Given the description of an element on the screen output the (x, y) to click on. 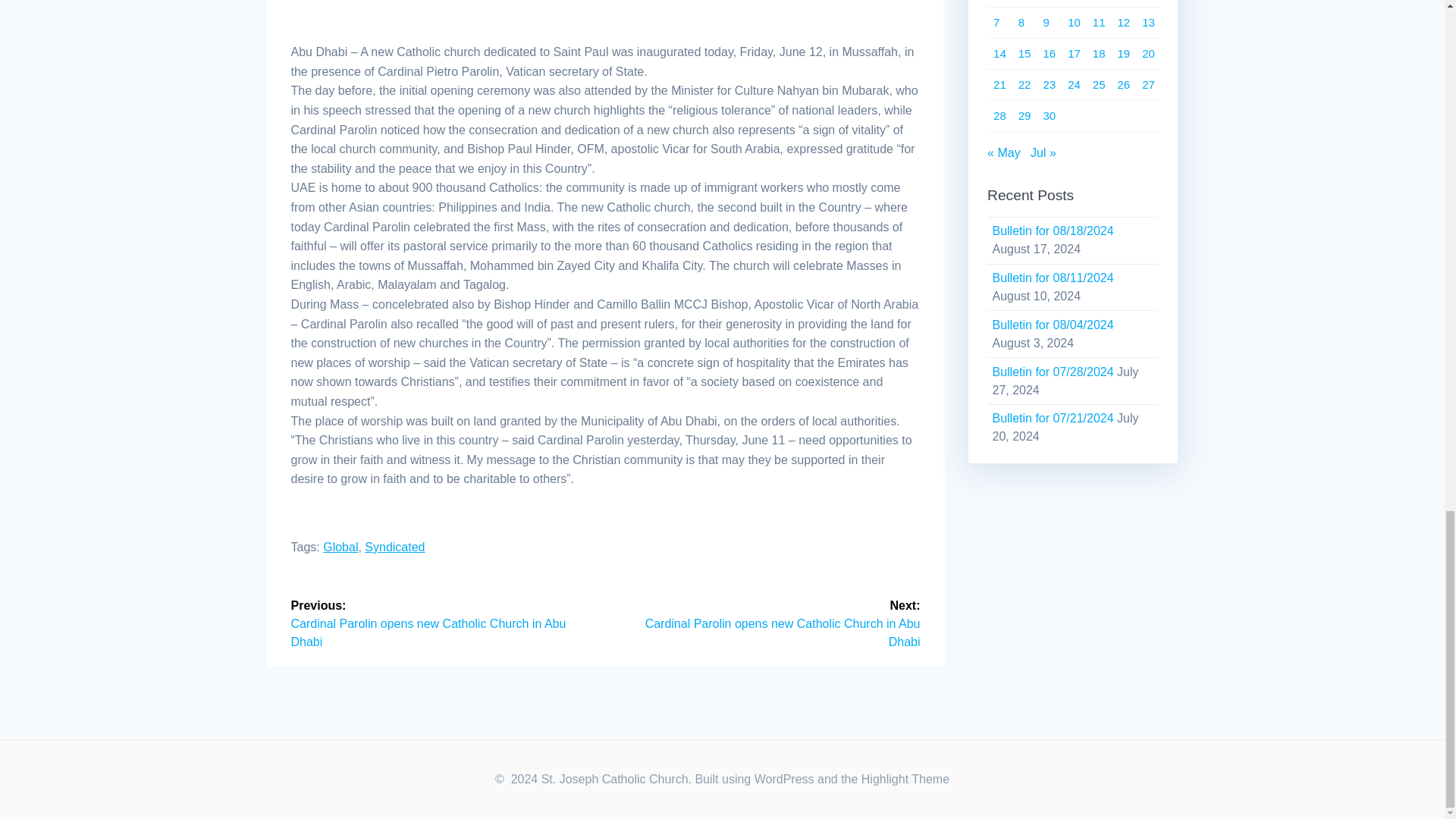
Syndicated (395, 546)
Global (340, 546)
